Given the description of an element on the screen output the (x, y) to click on. 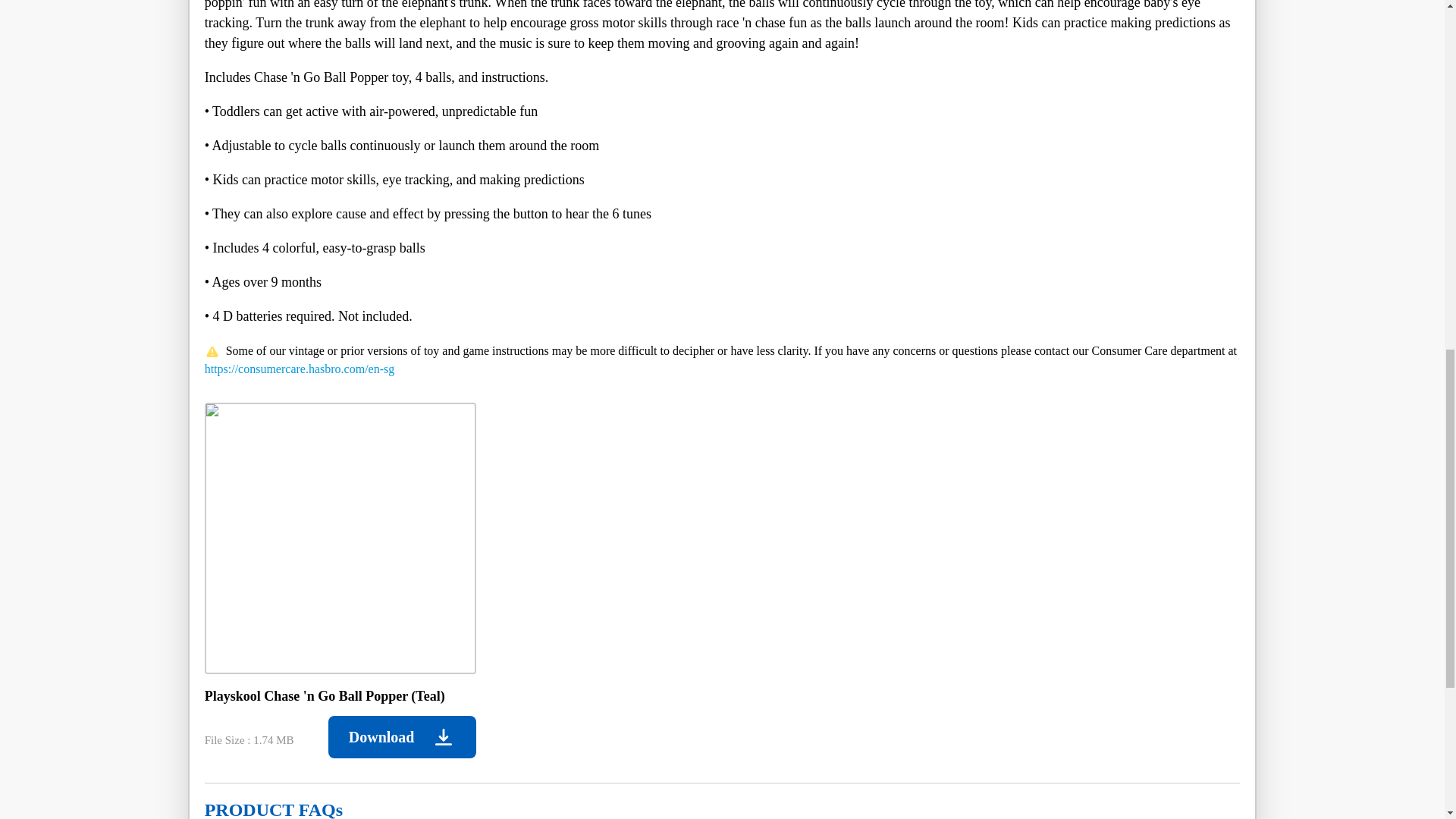
Download (402, 736)
